Given the description of an element on the screen output the (x, y) to click on. 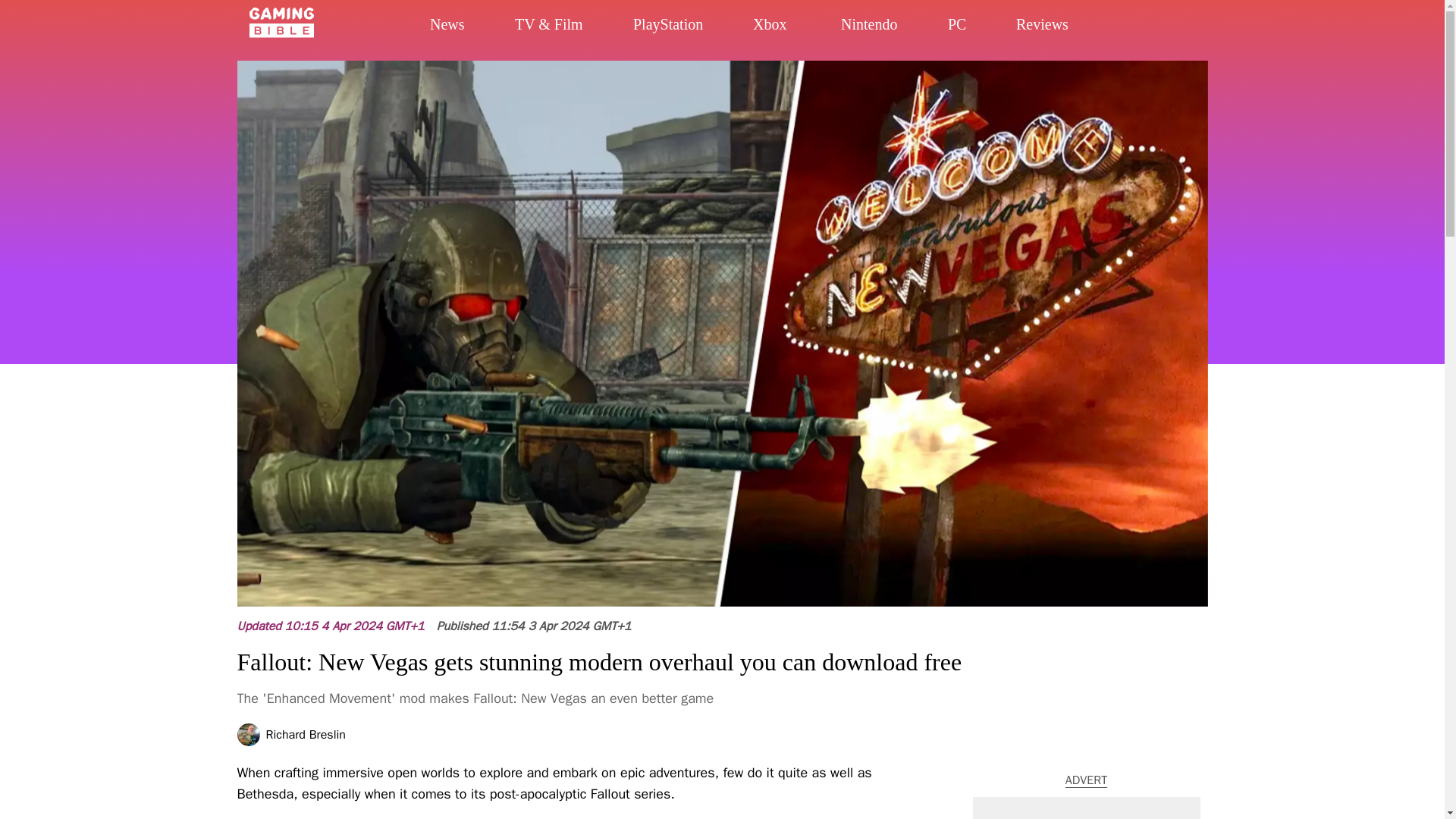
News (465, 27)
Xbox (788, 31)
Richard Breslin (304, 734)
Nintendo (897, 32)
PlayStation (703, 30)
